Given the description of an element on the screen output the (x, y) to click on. 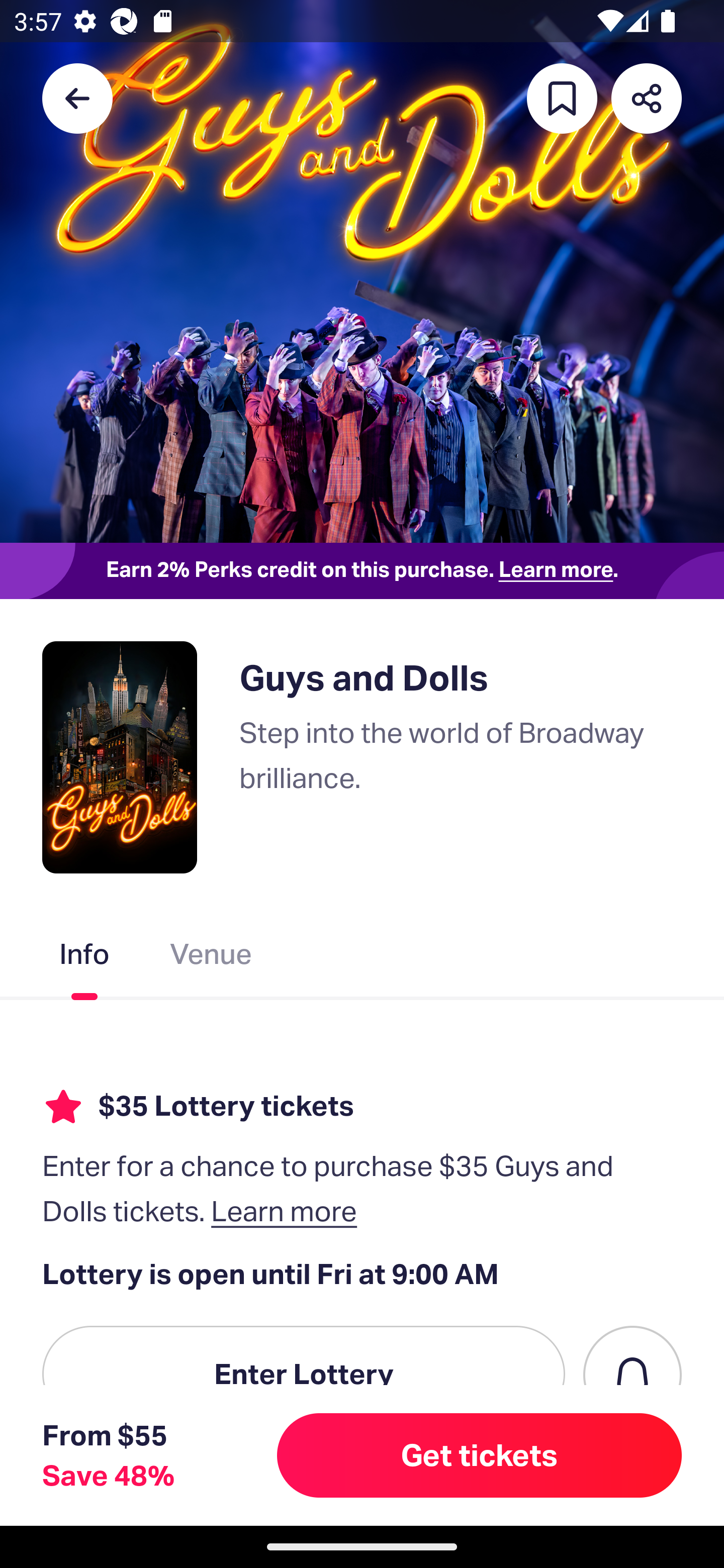
Earn 2% Perks credit on this purchase. Learn more. (362, 570)
Venue (210, 957)
Enter Lottery (303, 1374)
Get tickets (479, 1454)
